Given the description of an element on the screen output the (x, y) to click on. 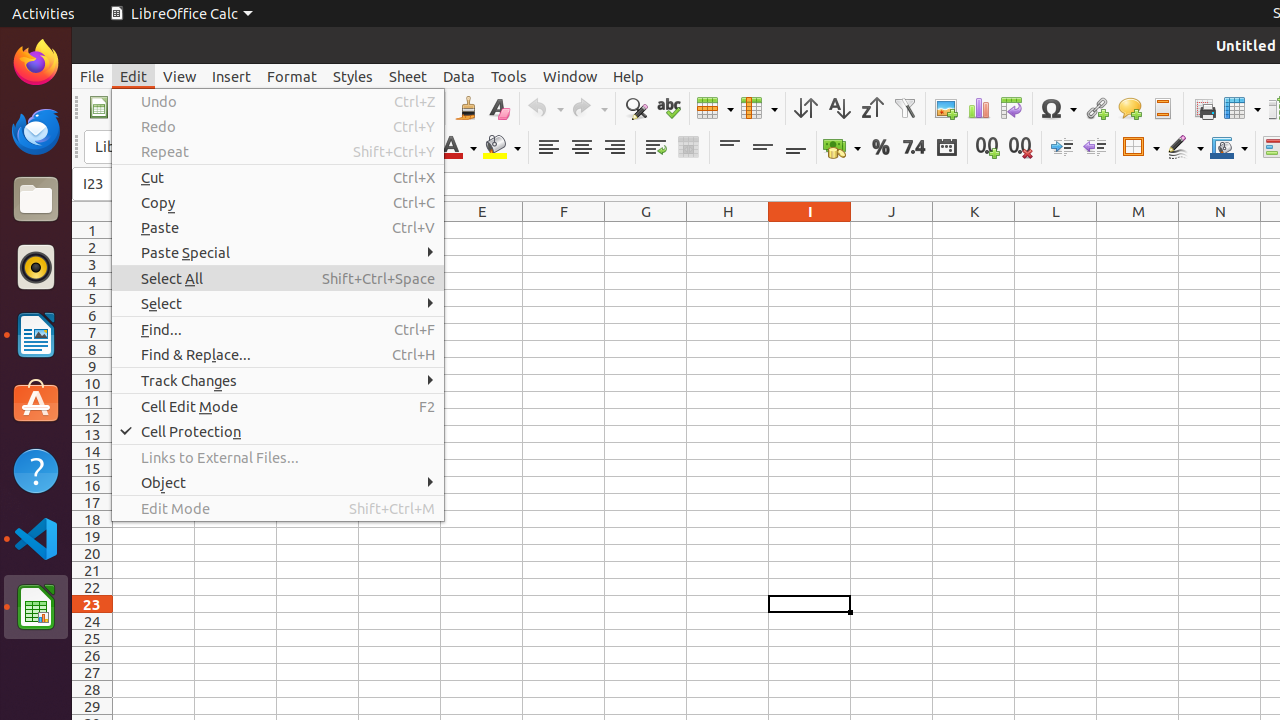
Print Area Element type: push-button (1203, 108)
Align Right Element type: push-button (614, 147)
File Element type: menu (92, 76)
